Given the description of an element on the screen output the (x, y) to click on. 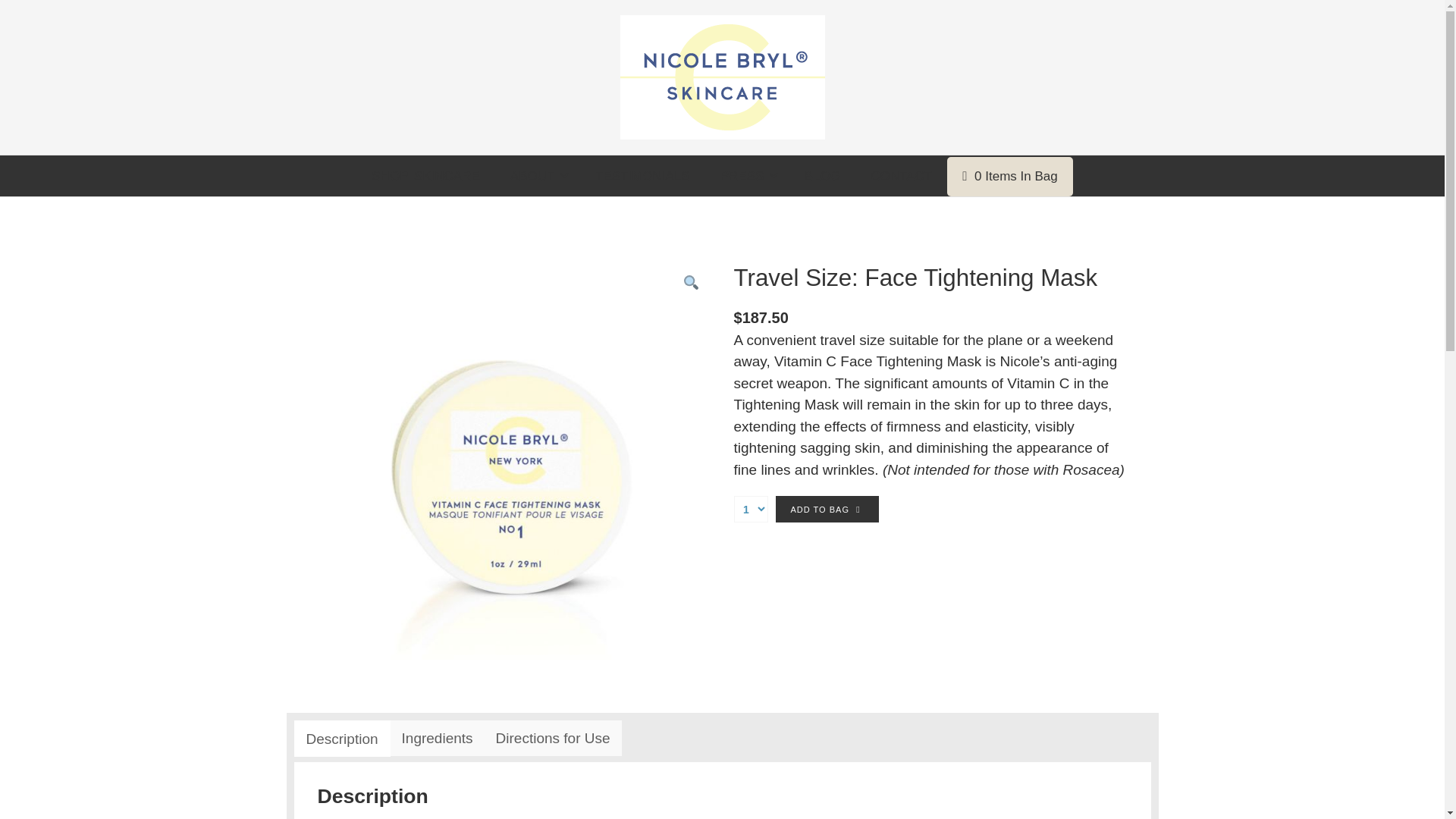
Ingredients (437, 737)
Nicole Bryl Skincare (722, 77)
CONTACT (901, 176)
SHOP SKINCARE (425, 176)
ABOUT (537, 175)
Start shopping (1010, 176)
TESTIMONIALS (641, 176)
ADD TO BAG (825, 509)
Description (341, 738)
PRESS (746, 175)
Directions for Use (552, 737)
BLOG (822, 176)
0 Items In Bag (1010, 176)
Qty (750, 509)
